Given the description of an element on the screen output the (x, y) to click on. 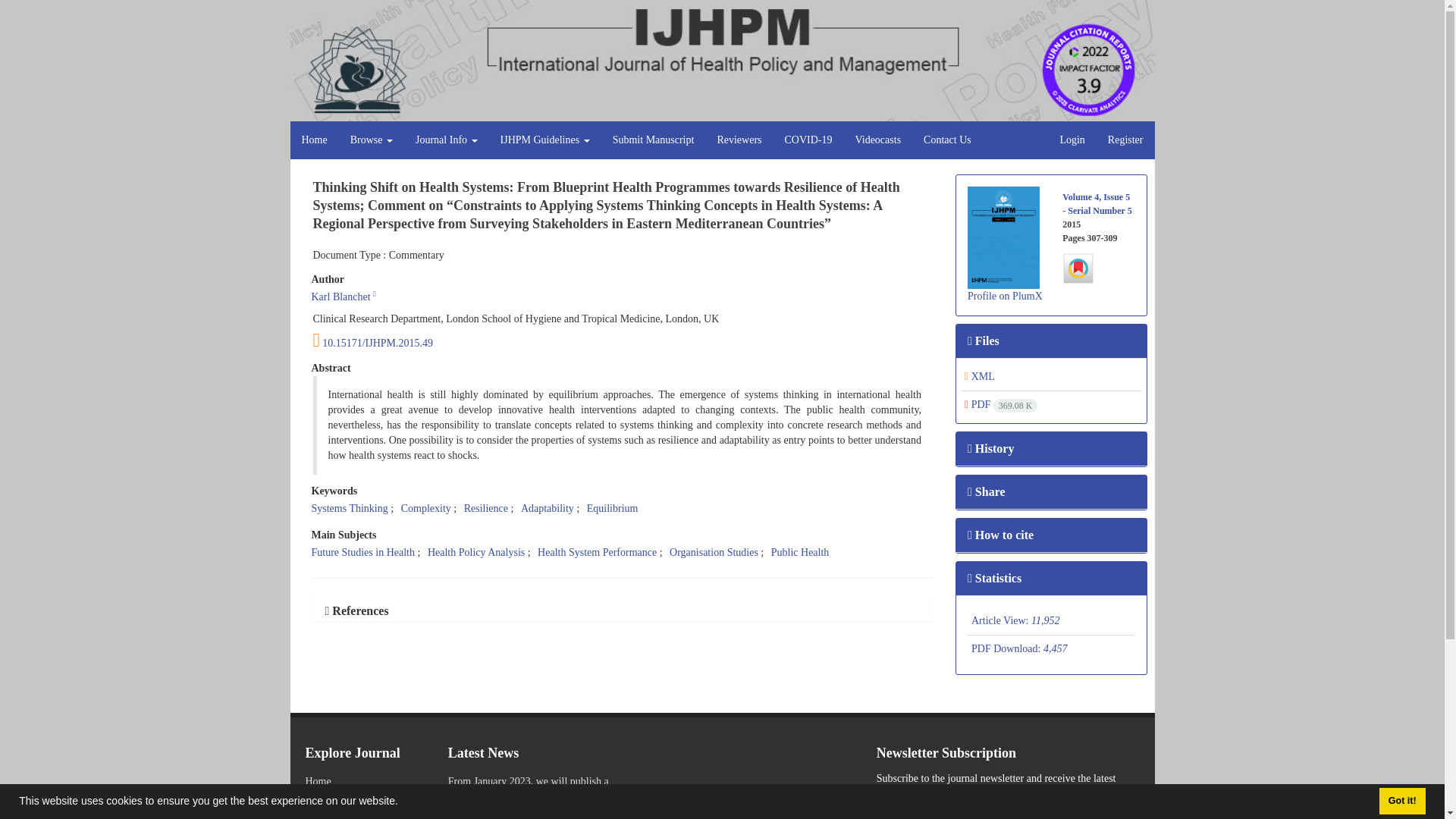
Systems Thinking (349, 508)
Register (1125, 139)
Adaptability (547, 508)
Complexity (426, 508)
Contact Us (947, 139)
Home (313, 139)
Browse (371, 139)
Login (1072, 139)
Reviewers (738, 139)
Resilience (486, 508)
